Given the description of an element on the screen output the (x, y) to click on. 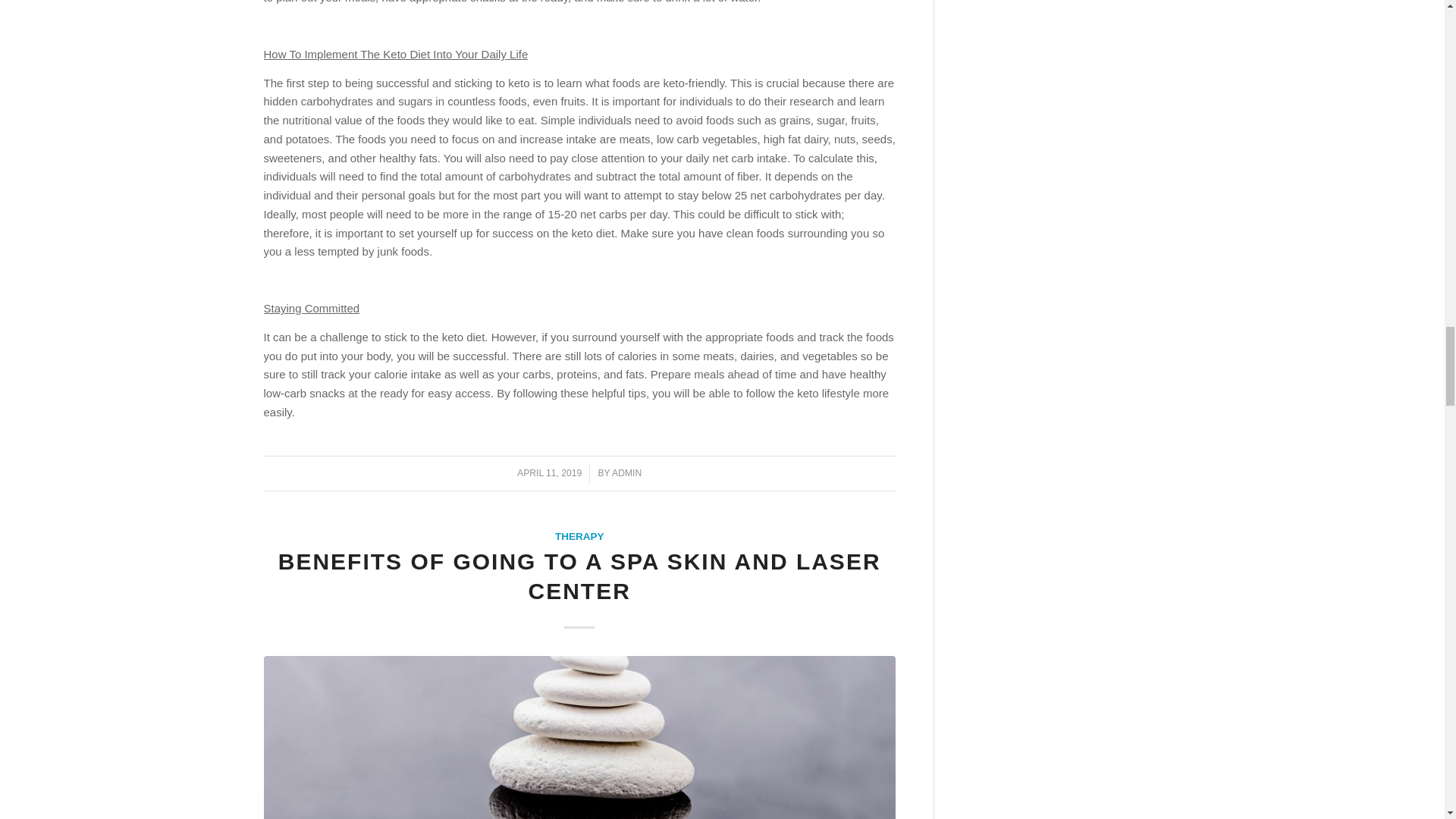
BENEFITS OF GOING TO A SPA SKIN AND LASER CENTER (579, 575)
Posts by admin (626, 472)
ADMIN (626, 472)
Benefits of going to a Spa Skin and Laser Center (579, 737)
THERAPY (579, 536)
